Given the description of an element on the screen output the (x, y) to click on. 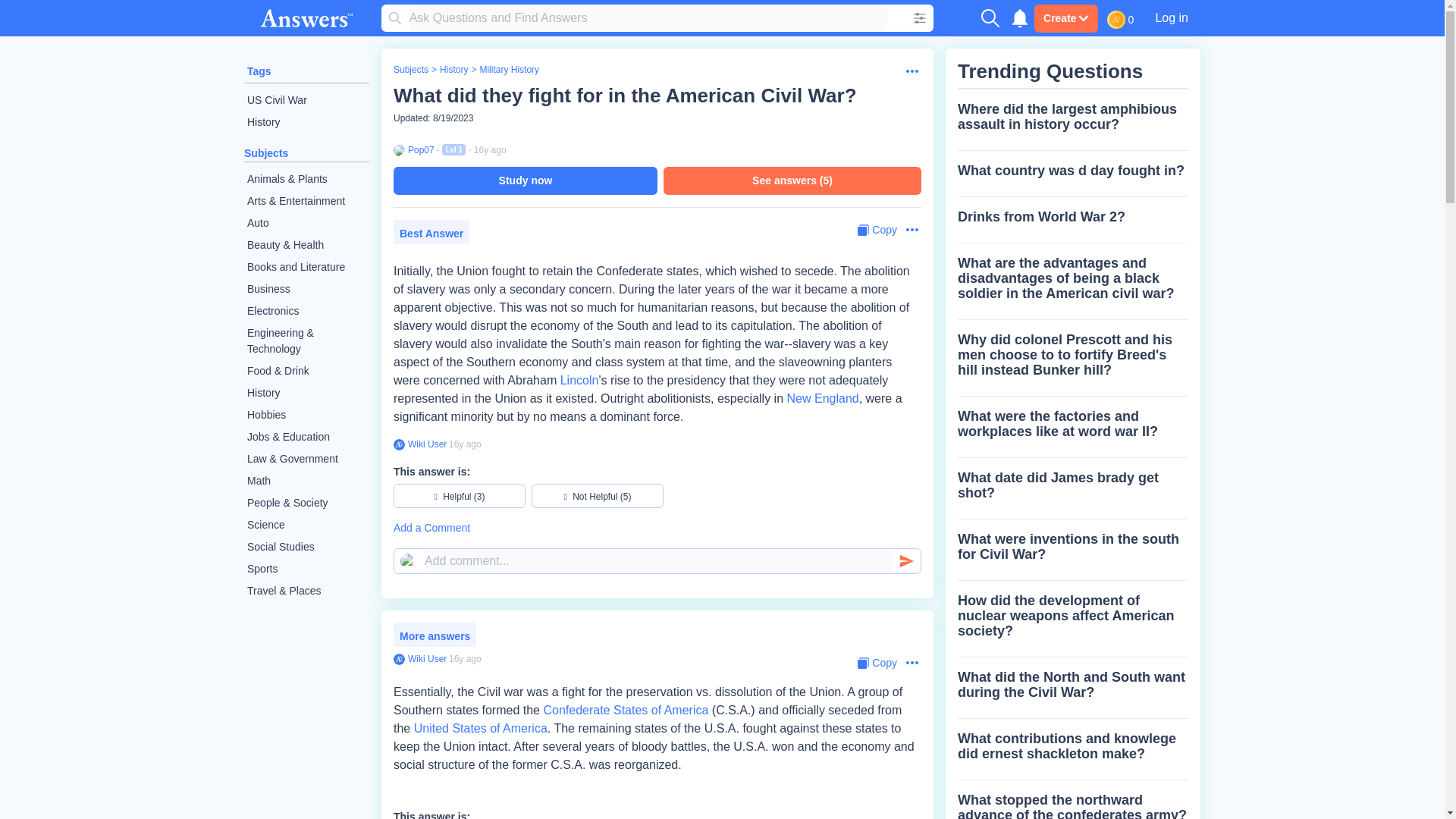
Math (306, 481)
History (453, 69)
Sports (306, 568)
History (306, 122)
Lincoln (579, 379)
2007-12-30 16:12:34 (490, 149)
US Civil War (306, 100)
Hobbies (306, 414)
Books and Literature (306, 267)
Copy (876, 229)
History (306, 393)
Study now (525, 180)
Military History (508, 69)
Log in (1170, 17)
New England (823, 398)
